Given the description of an element on the screen output the (x, y) to click on. 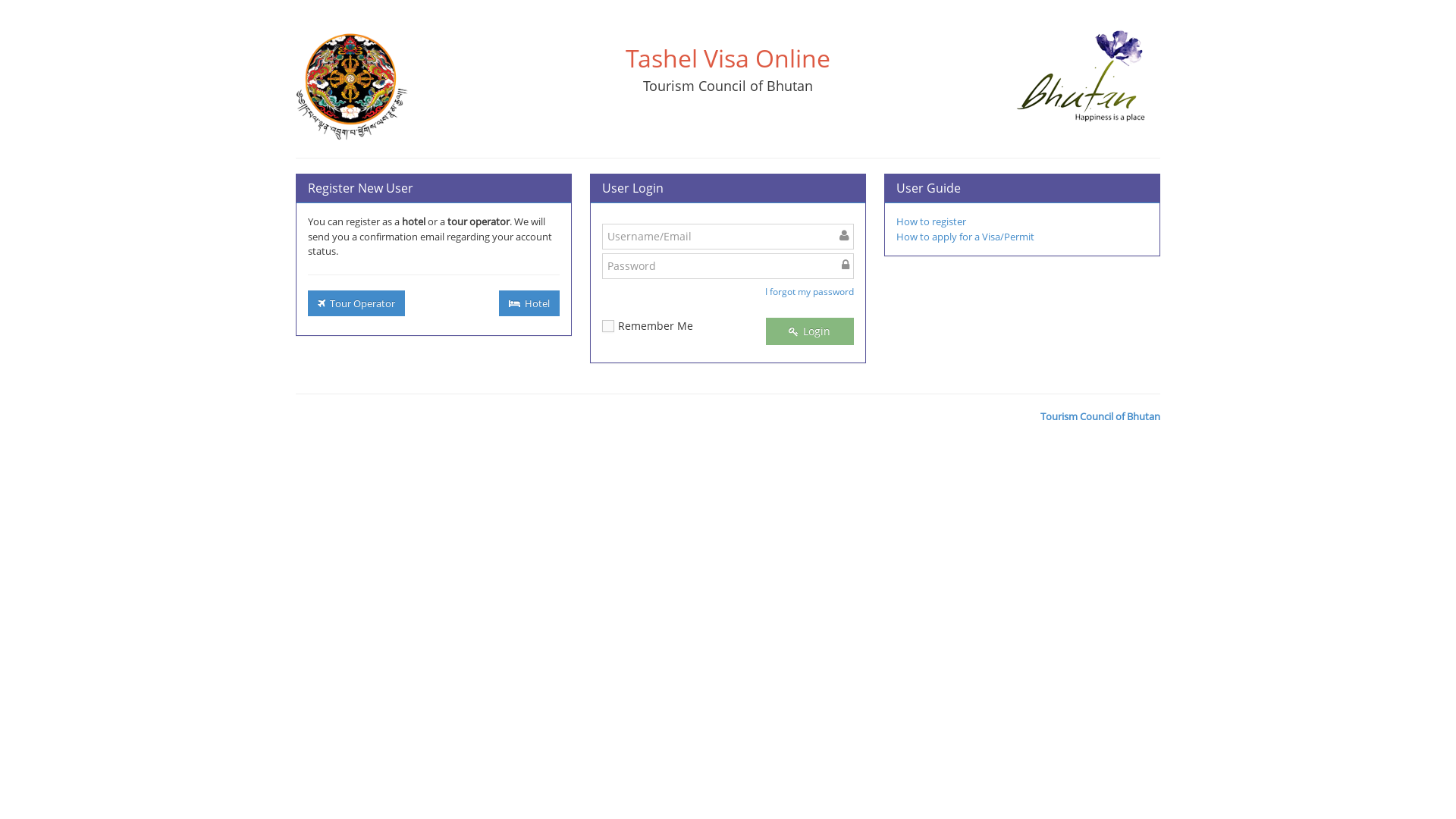
Hotel Element type: text (528, 303)
Tourism Council of Bhutan Element type: text (1100, 416)
I forgot my password Element type: text (807, 288)
Login Element type: text (809, 331)
How to register Element type: text (931, 221)
How to apply for a Visa/Permit Element type: text (965, 236)
Tour Operator Element type: text (355, 303)
